Given the description of an element on the screen output the (x, y) to click on. 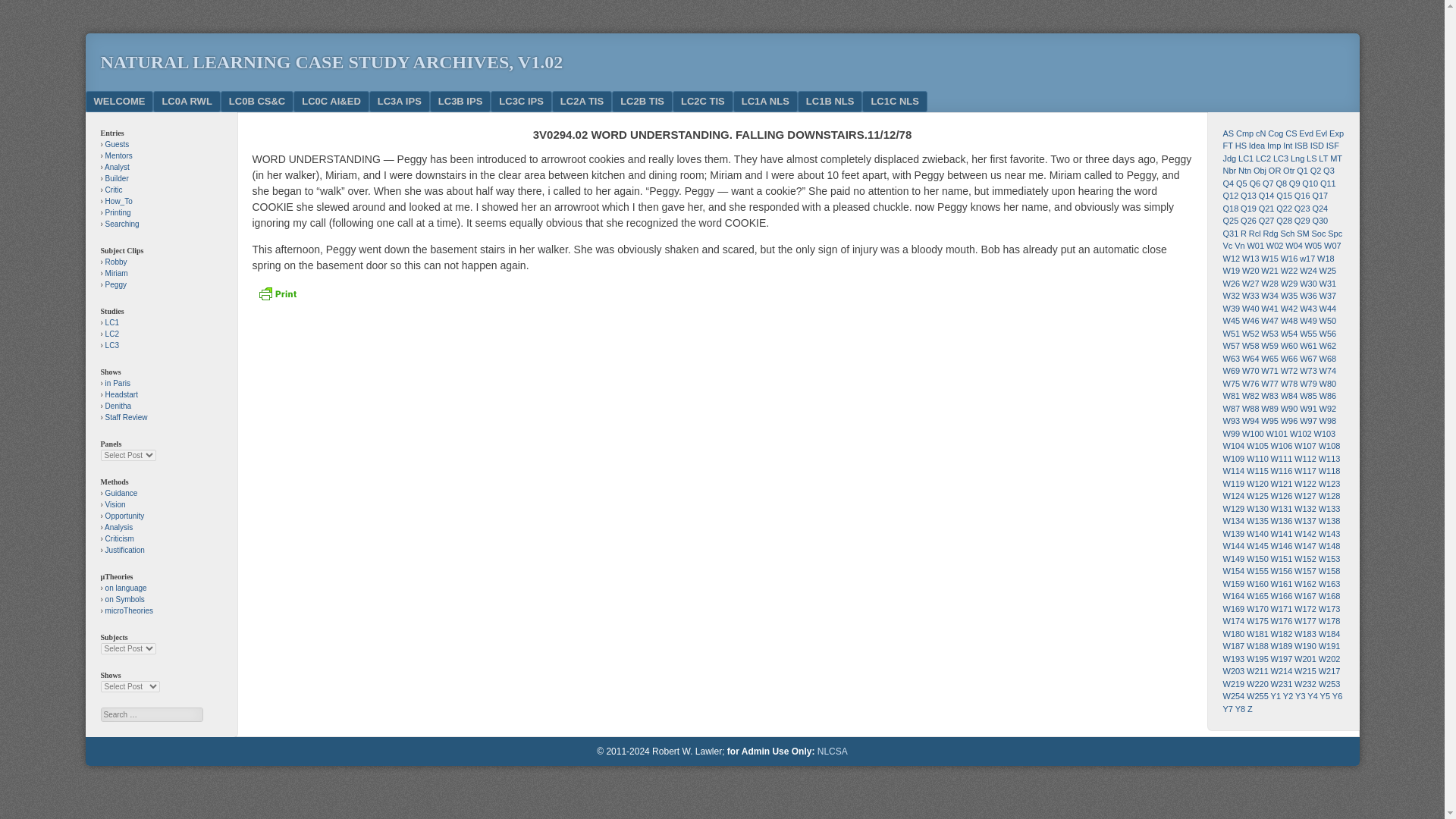
LC0a RWL (185, 101)
Welcome (118, 101)
WELCOME (118, 101)
Natural Learning Case Study Archives, v1.02 (331, 62)
Skip to content (137, 101)
NATURAL LEARNING CASE STUDY ARCHIVES, V1.02 (331, 62)
SKIP TO CONTENT (137, 101)
LC0A RWL (185, 101)
